Given the description of an element on the screen output the (x, y) to click on. 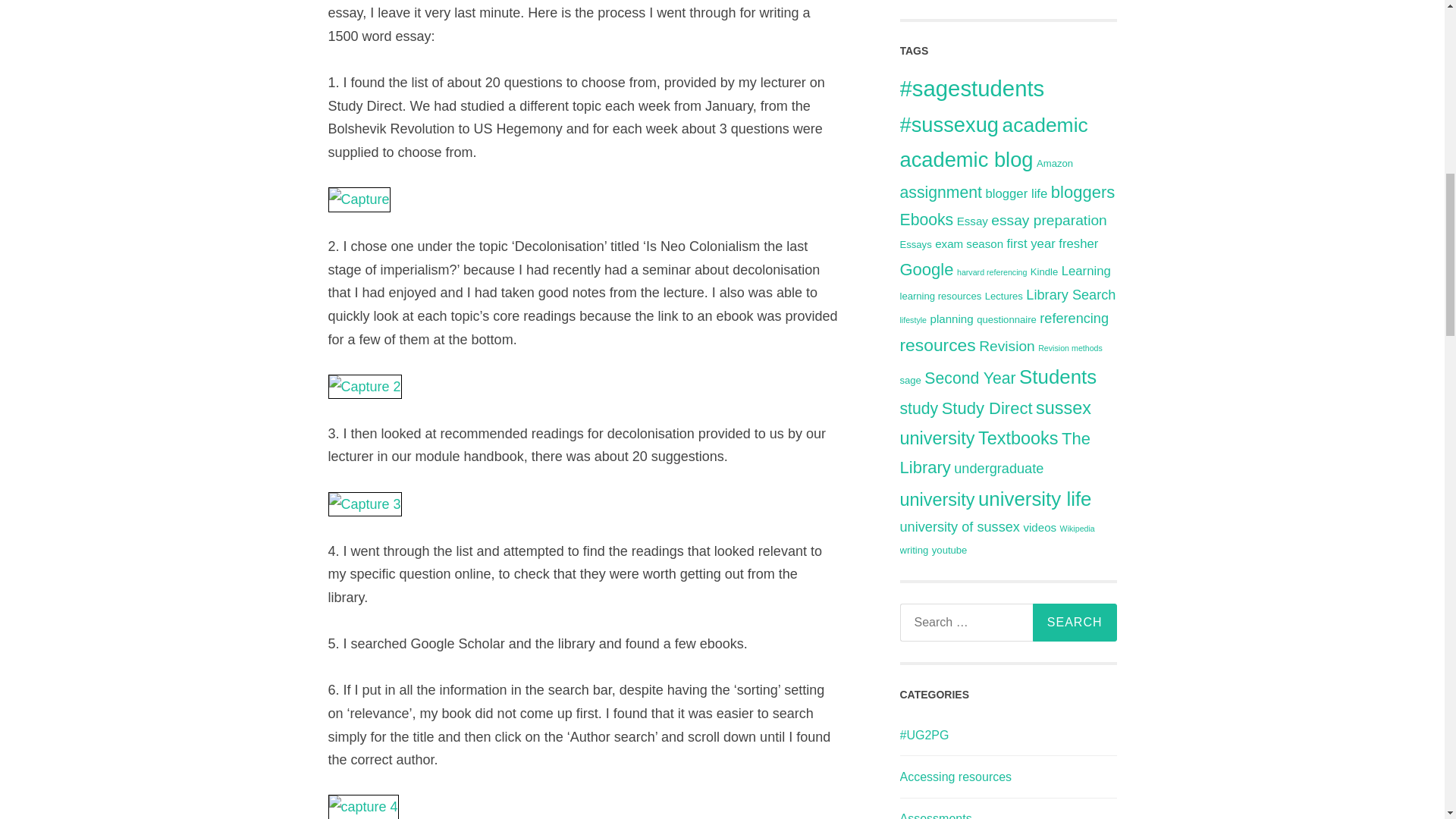
Search (1074, 622)
Search (1074, 622)
academic blog (965, 159)
Amazon (1054, 163)
academic (1044, 124)
